Given the description of an element on the screen output the (x, y) to click on. 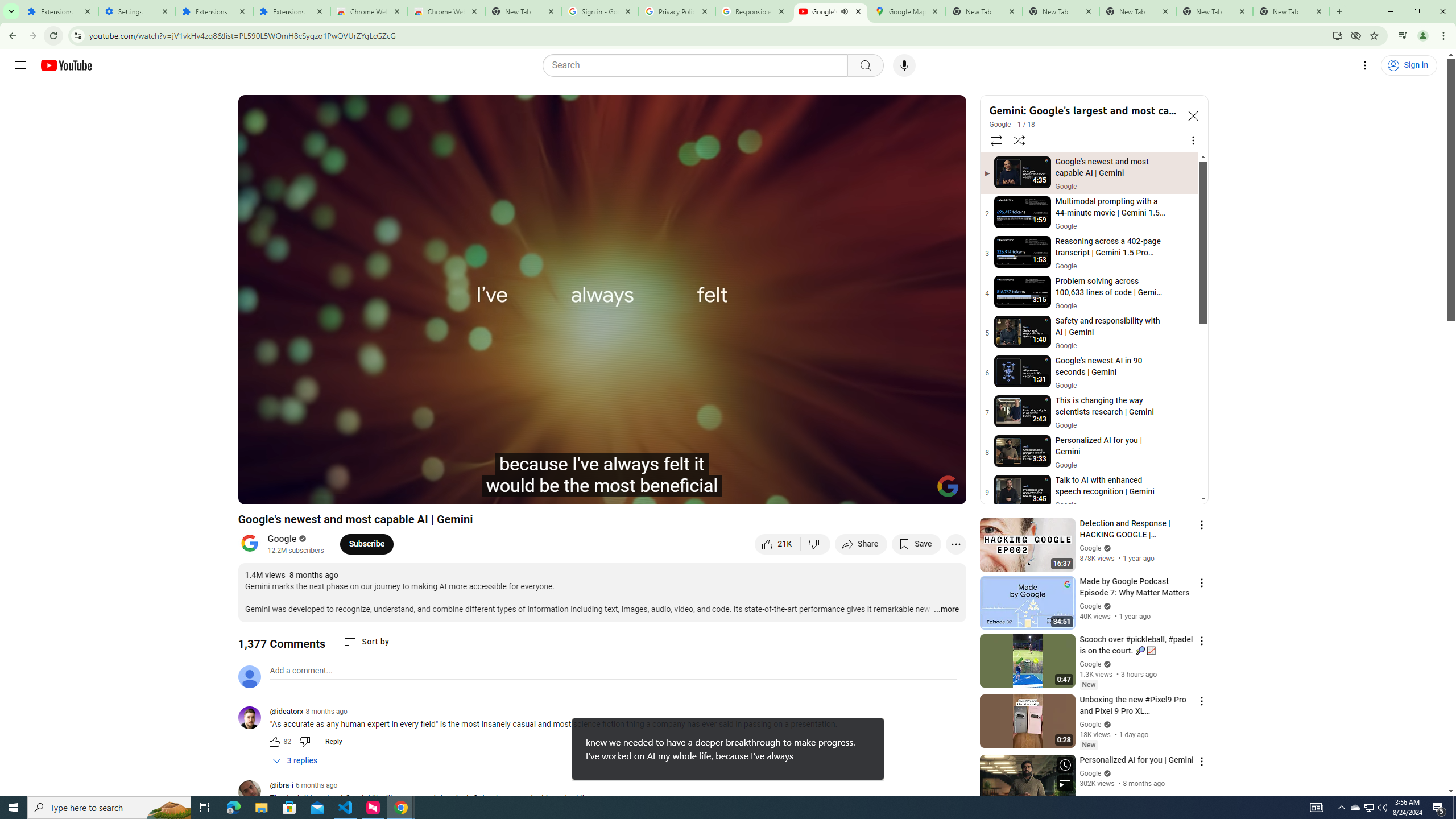
like this video along with 21,118 other people (777, 543)
@ibra-i (253, 792)
...more (946, 609)
Sign in - Google Accounts (599, 11)
Play (k) (285, 490)
